Given the description of an element on the screen output the (x, y) to click on. 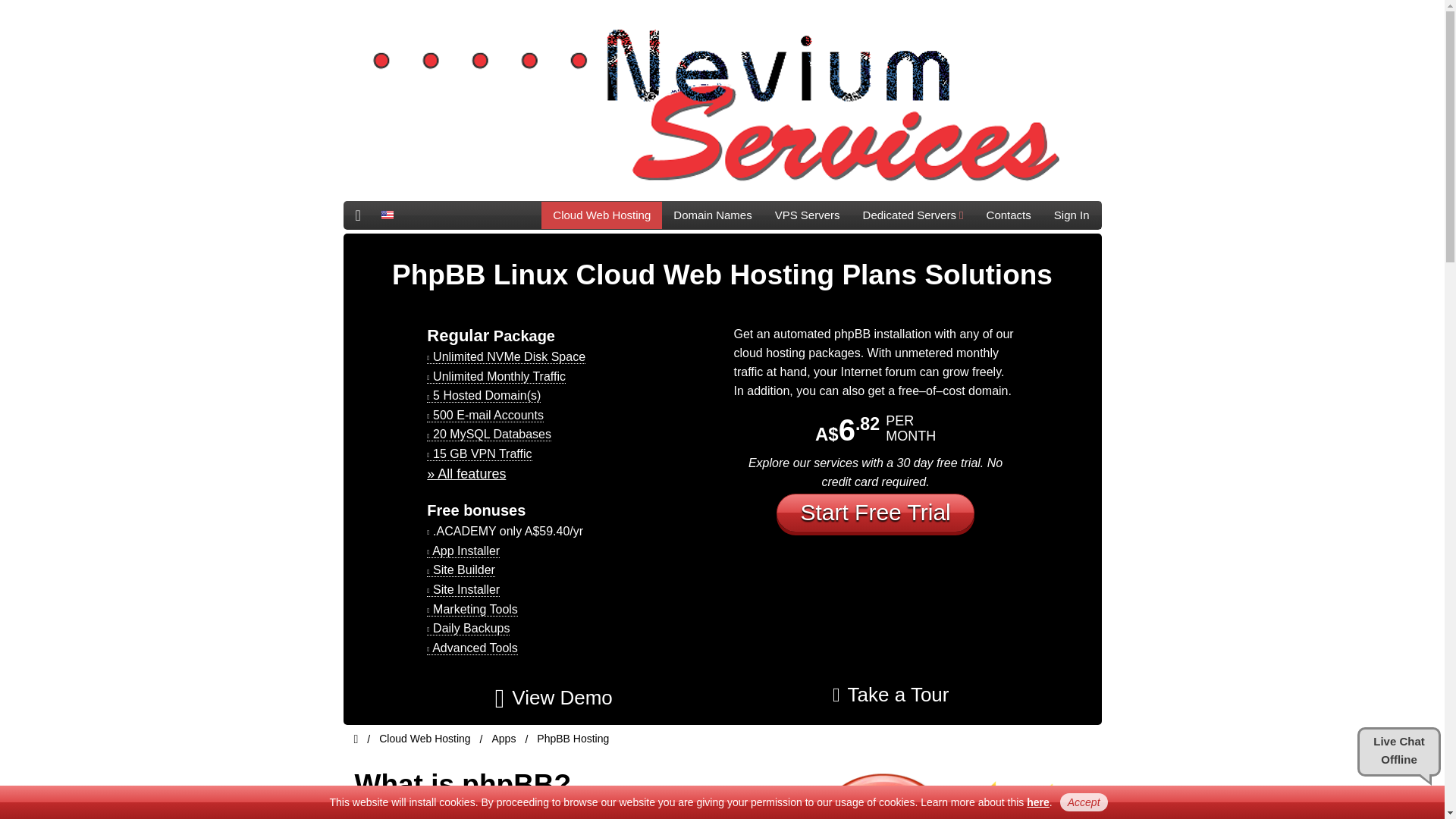
phpBB Hosting Demo (553, 698)
Application Installer Tour (890, 694)
Domain Names (712, 215)
Regular Plan Details (465, 473)
VPS Servers (806, 215)
